Given the description of an element on the screen output the (x, y) to click on. 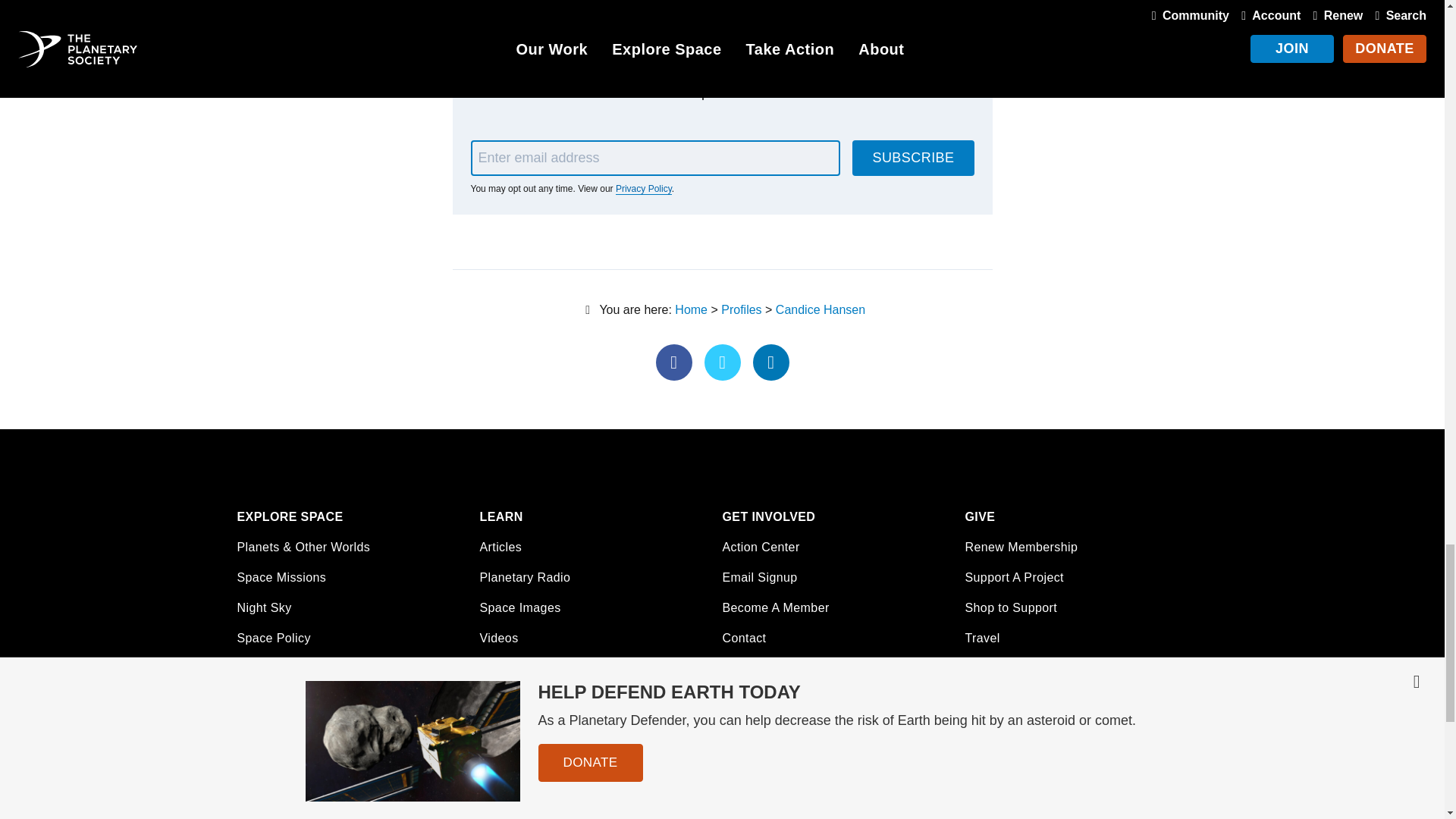
Subscribe (912, 158)
